Given the description of an element on the screen output the (x, y) to click on. 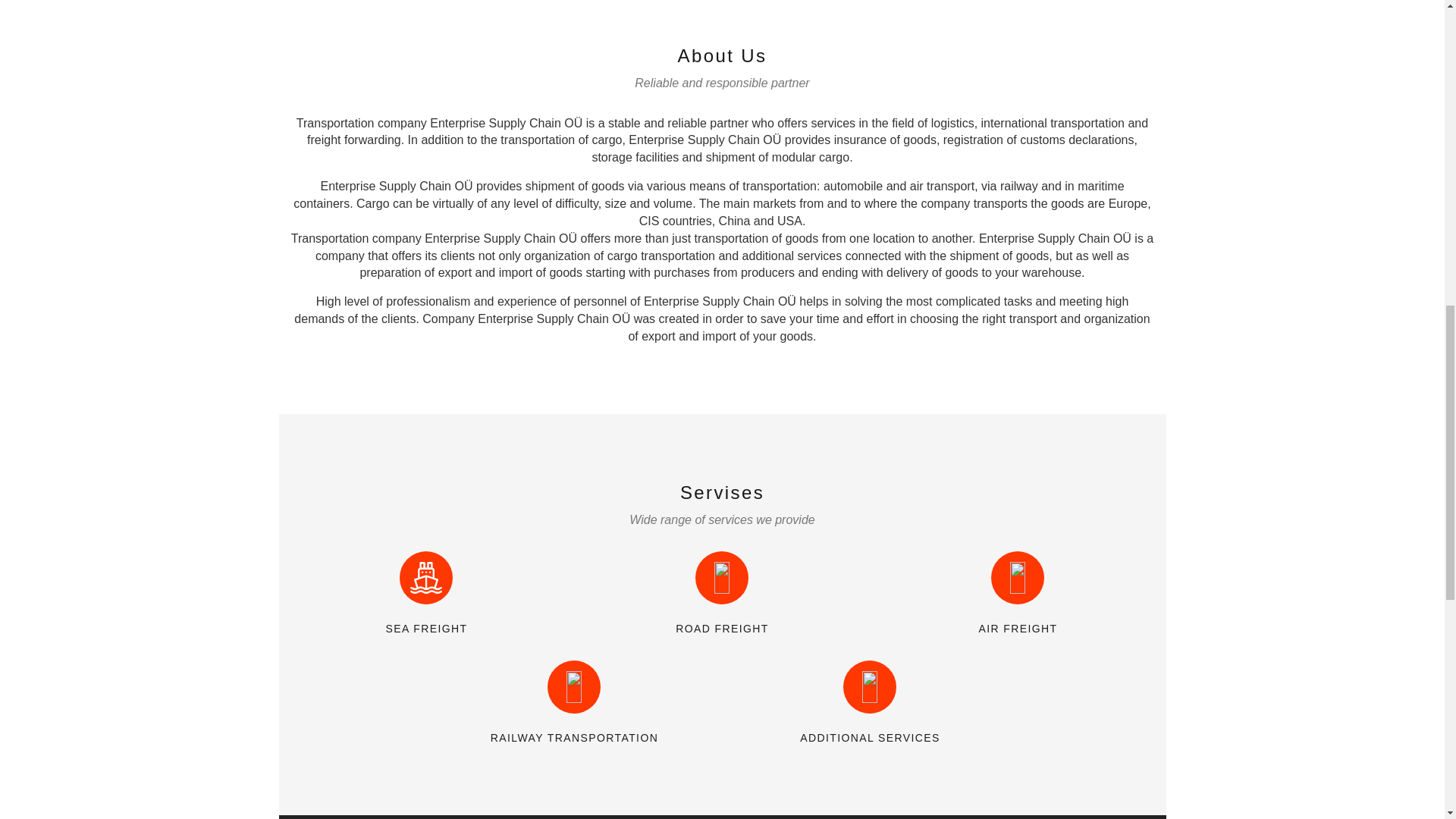
RAILWAY TRANSPORTATION (574, 737)
ROAD FREIGHT (722, 628)
SEA FREIGHT (425, 628)
ADDITIONAL SERVICES (869, 737)
AIR FREIGHT (1017, 628)
